Given the description of an element on the screen output the (x, y) to click on. 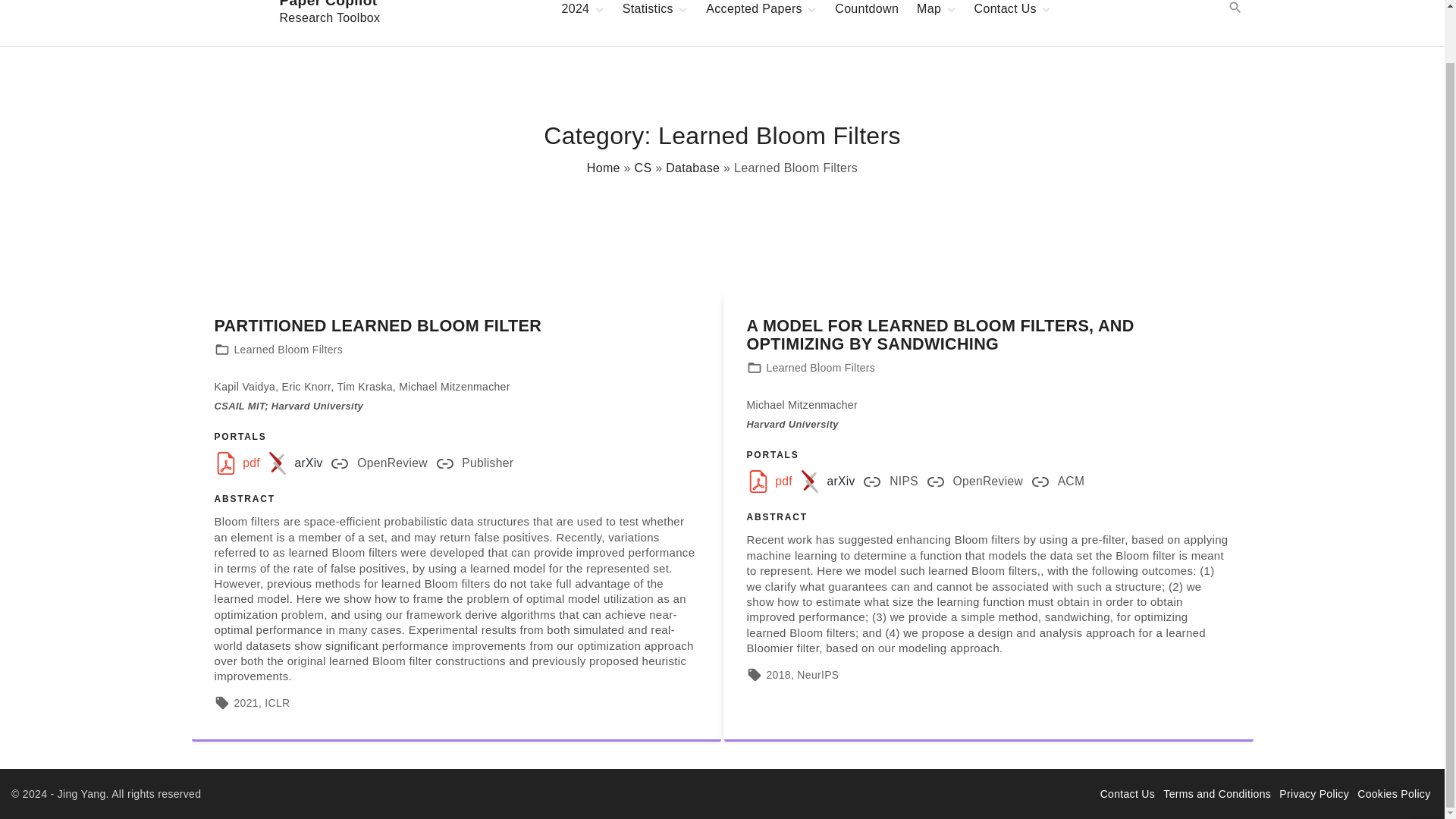
Statistics (649, 11)
2024 (290, 22)
